Given the description of an element on the screen output the (x, y) to click on. 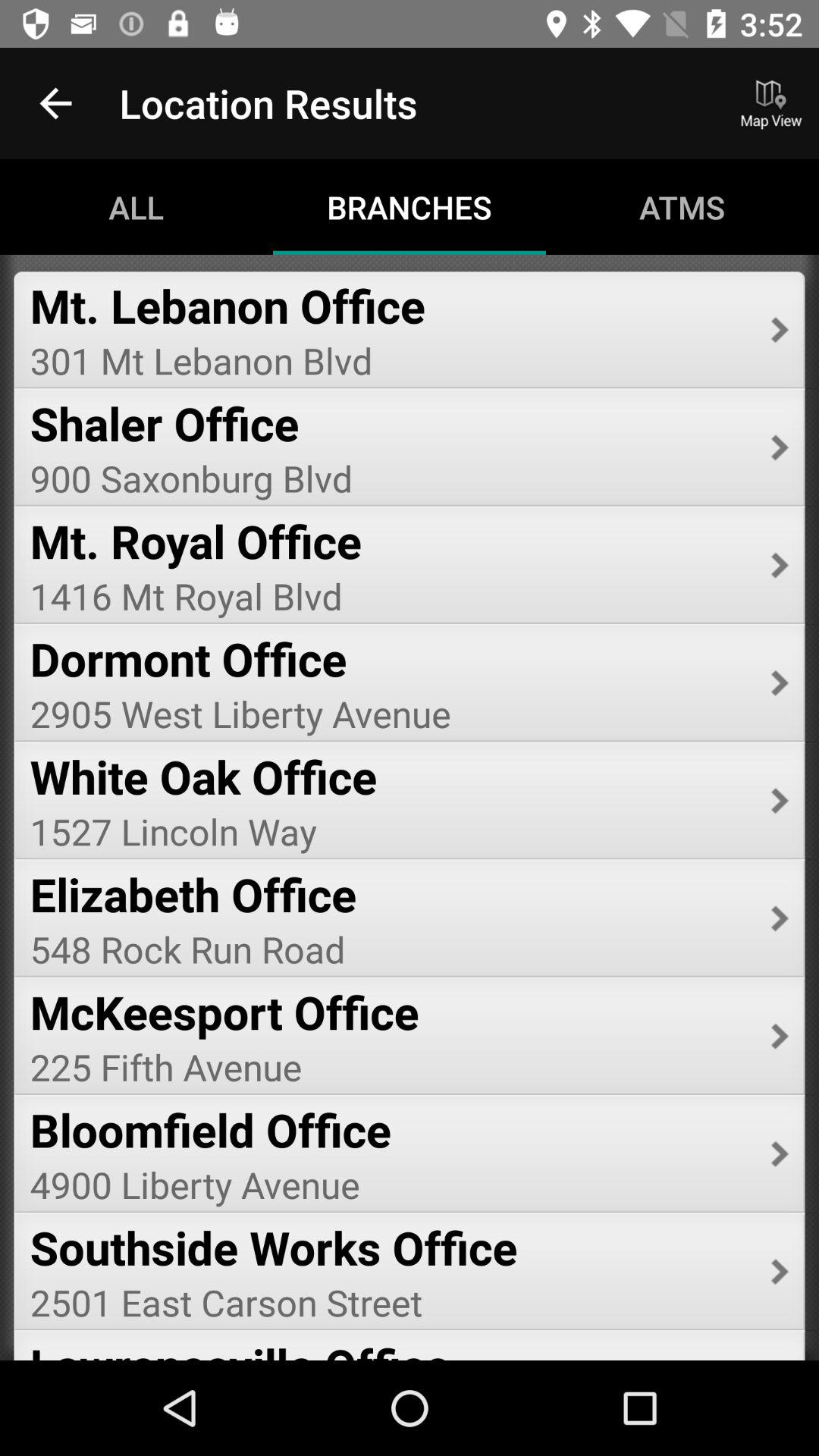
turn on the item below southside works office (390, 1301)
